Given the description of an element on the screen output the (x, y) to click on. 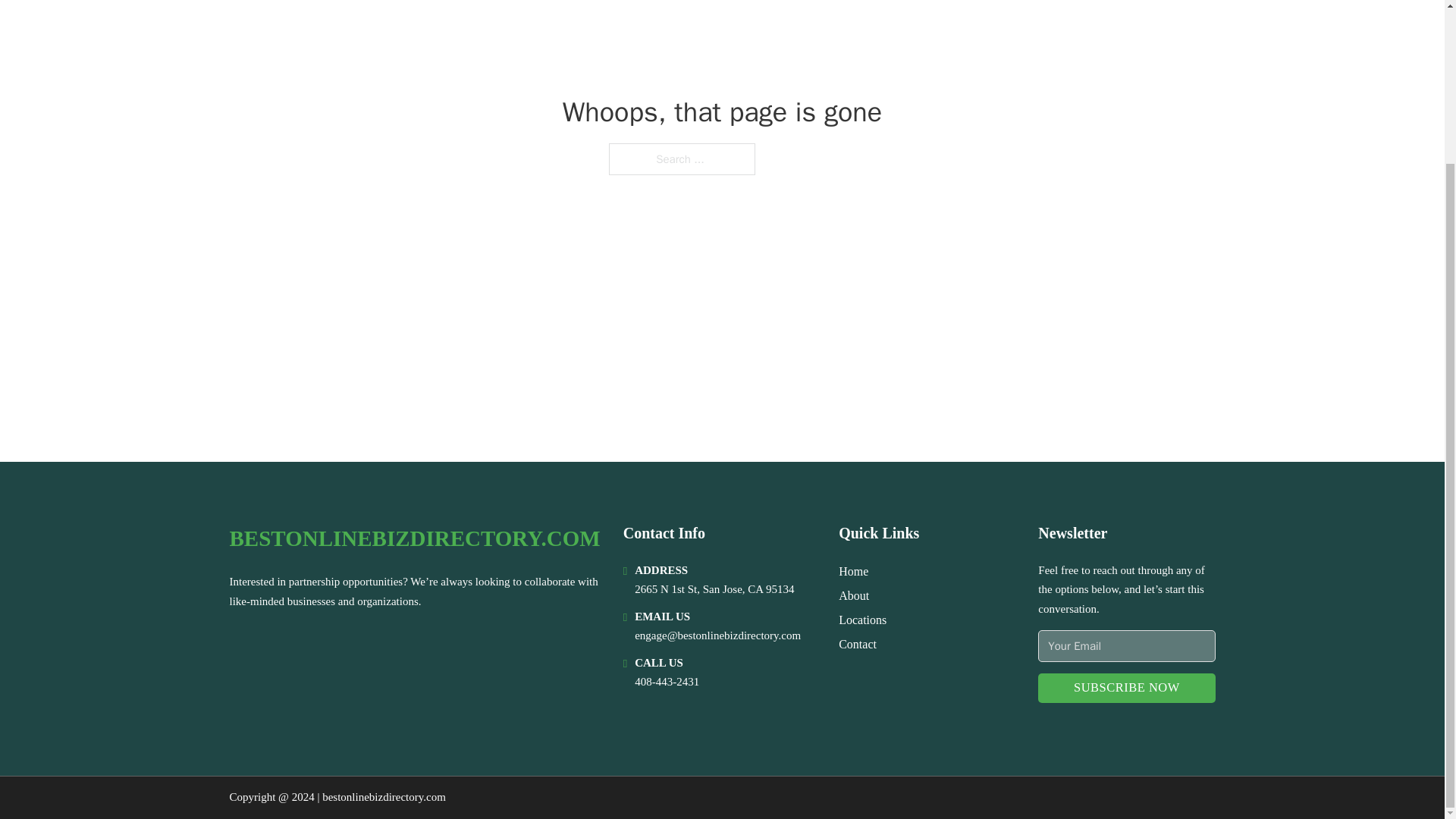
About (853, 595)
BESTONLINEBIZDIRECTORY.COM (413, 538)
Locations (862, 619)
Contact (857, 643)
SUBSCRIBE NOW (1126, 687)
Home (852, 571)
408-443-2431 (666, 681)
